Given the description of an element on the screen output the (x, y) to click on. 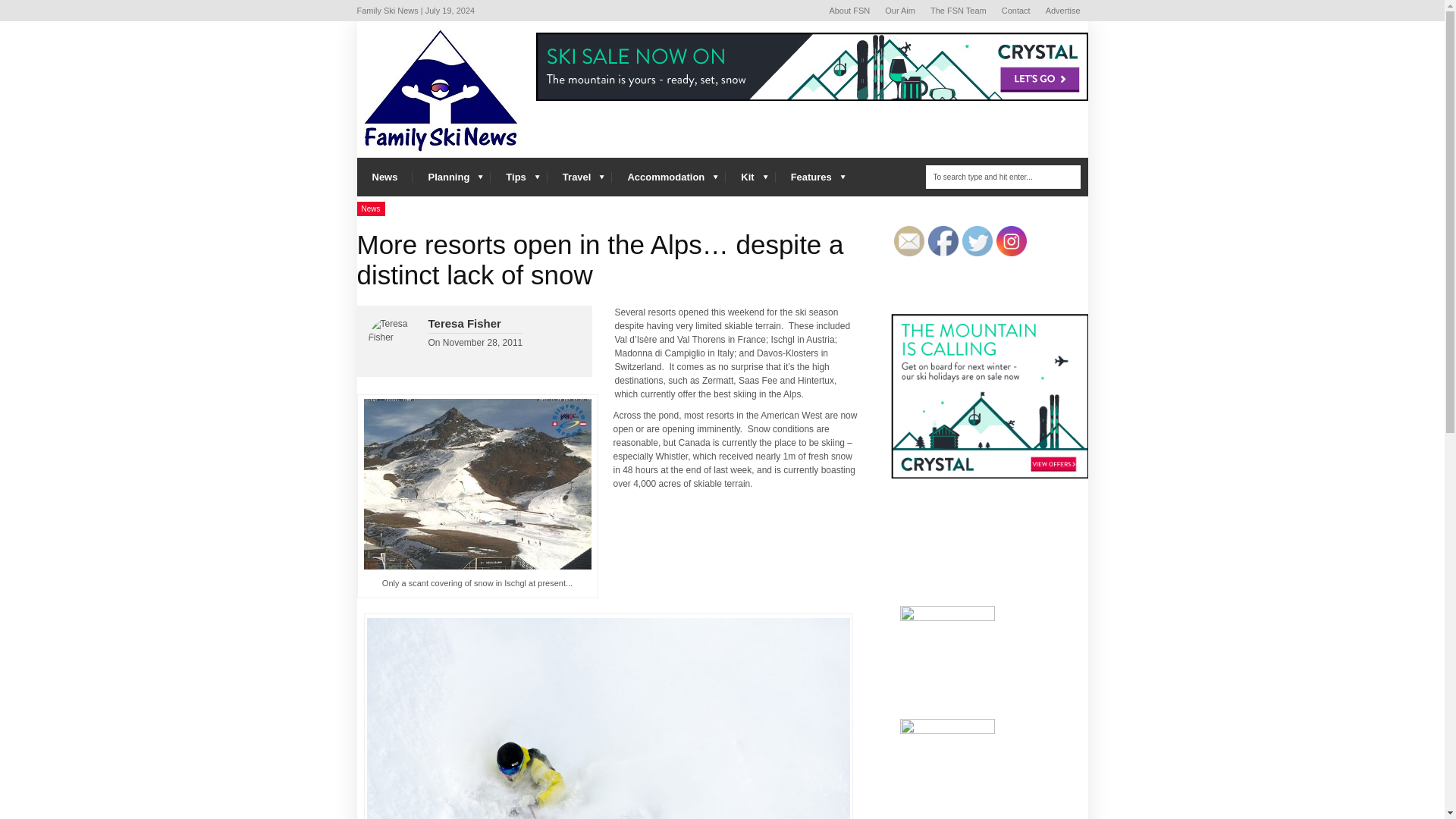
Whistler, Canada (608, 718)
Instagram (1010, 241)
Our Aim (900, 10)
About FSN (849, 10)
Posts by Teresa Fisher (464, 323)
Follow by Email (908, 241)
Contact (1016, 10)
News (384, 177)
Twitter (975, 241)
The FSN Team (958, 10)
Facebook (943, 241)
Advertise (1062, 10)
Ischgl, Austria (477, 483)
To search type and hit enter... (1002, 177)
